Given the description of an element on the screen output the (x, y) to click on. 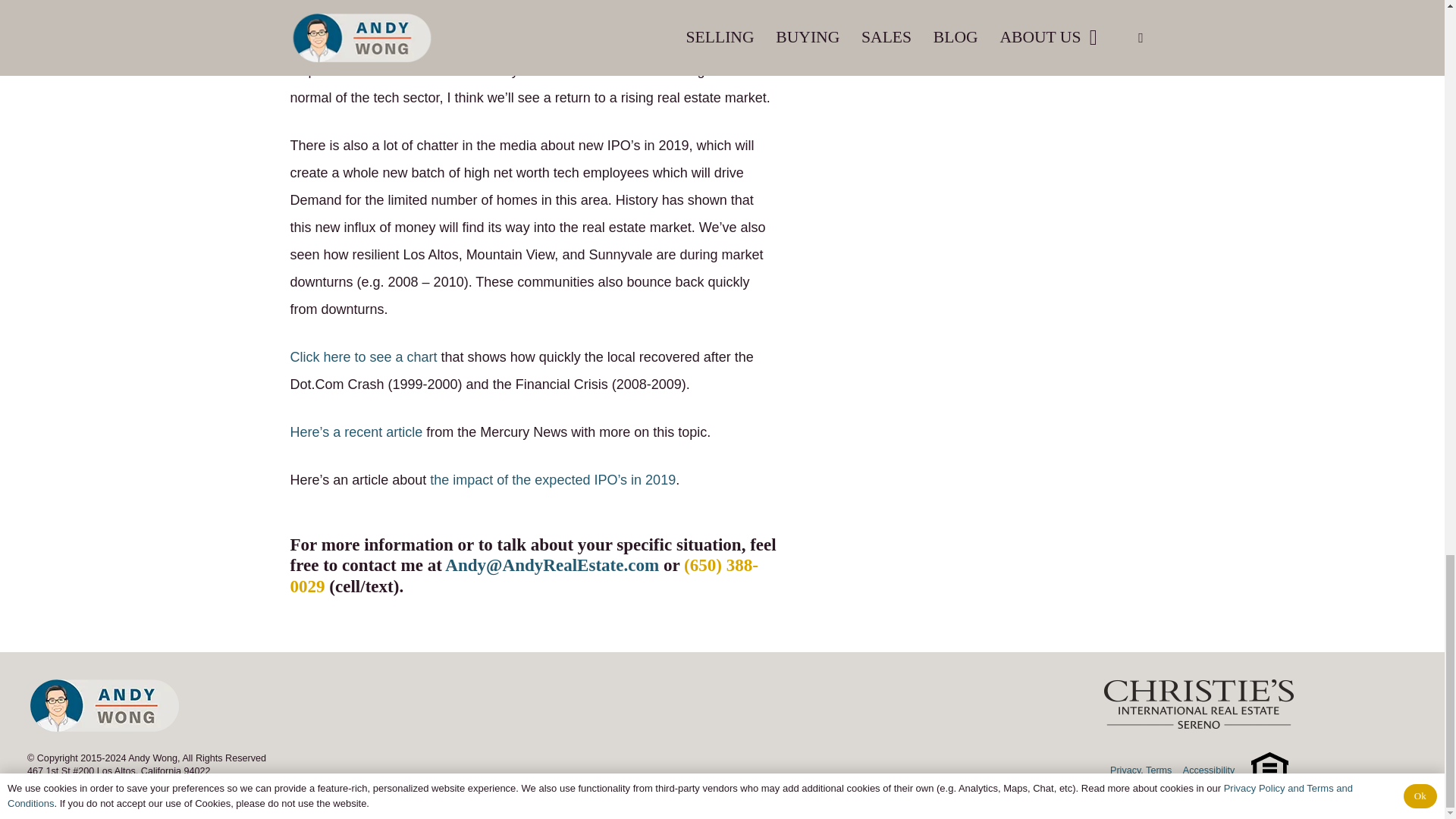
Privacy, Terms (1140, 769)
Accessibility (1208, 769)
Click here to see a chart (362, 356)
